Given the description of an element on the screen output the (x, y) to click on. 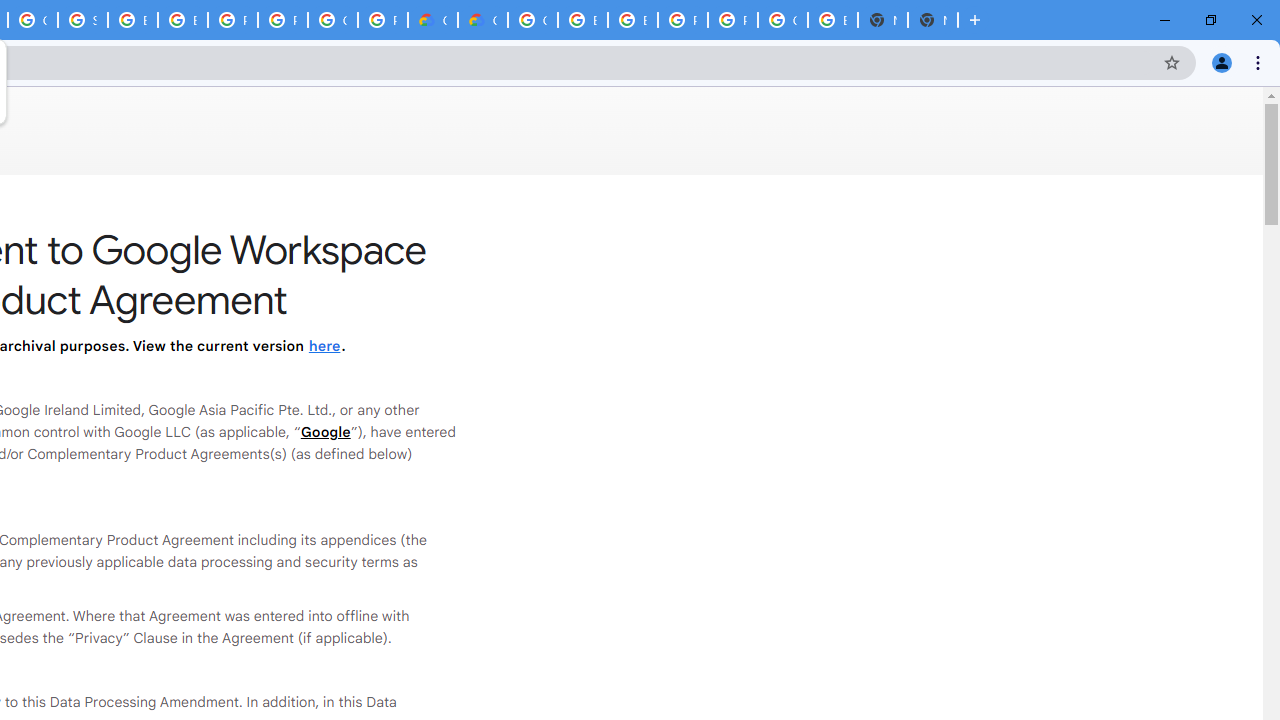
Browse Chrome as a guest - Computer - Google Chrome Help (582, 20)
Google Cloud Platform (333, 20)
Browse Chrome as a guest - Computer - Google Chrome Help (182, 20)
Sign in - Google Accounts (82, 20)
